Given the description of an element on the screen output the (x, y) to click on. 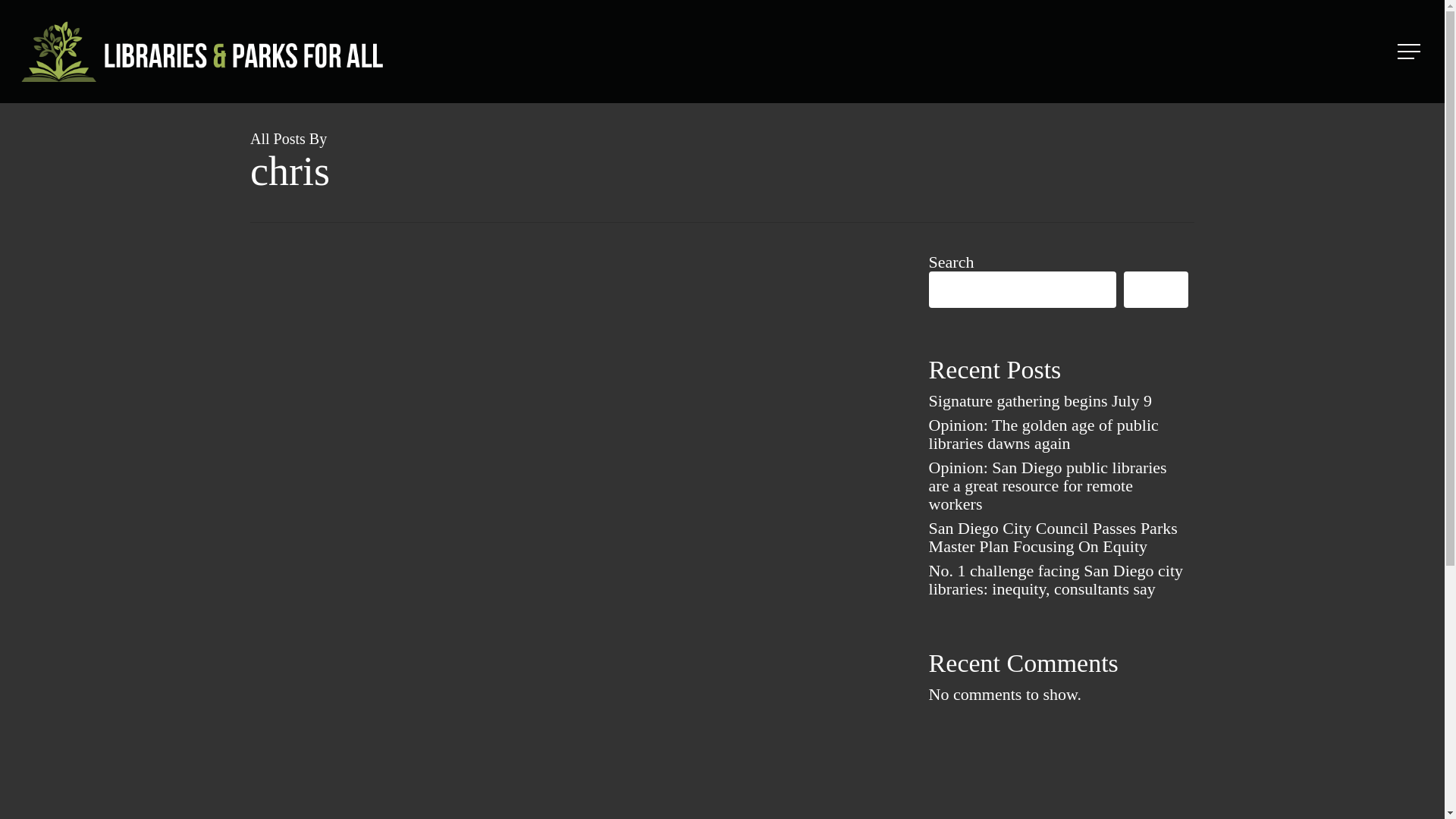
Signature gathering begins July 9 (1058, 401)
Search (1156, 289)
Opinion: The golden age of public libraries dawns again (1058, 434)
Menu (1410, 51)
